Given the description of an element on the screen output the (x, y) to click on. 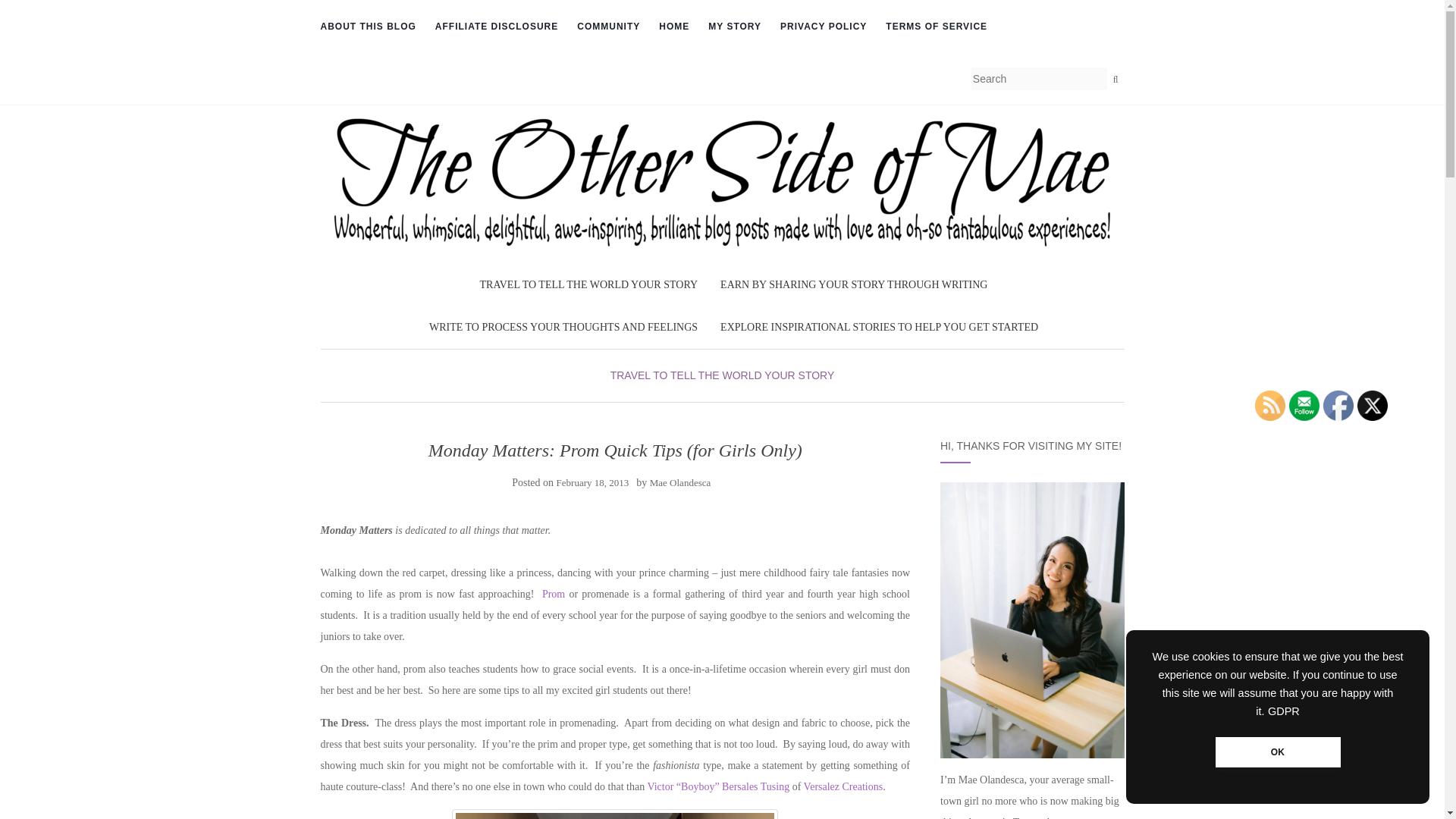
EXPLORE INSPIRATIONAL STORIES TO HELP YOU GET STARTED (879, 327)
TRAVEL TO TELL THE WORLD YOUR STORY (589, 284)
Follow by Email (1303, 405)
TERMS OF SERVICE (936, 27)
ABOUT THIS BLOG (367, 27)
GDPR (1284, 711)
Mae Olandesca (680, 482)
Twitter (1371, 405)
EARN by sharing your story through writing (853, 284)
Facebook (1338, 405)
TRAVEL TO TELL THE WORLD YOUR STORY (722, 375)
Versalez Creations (843, 786)
COMMUNITY (608, 27)
February 18, 2013 (592, 482)
OK (1276, 752)
